Given the description of an element on the screen output the (x, y) to click on. 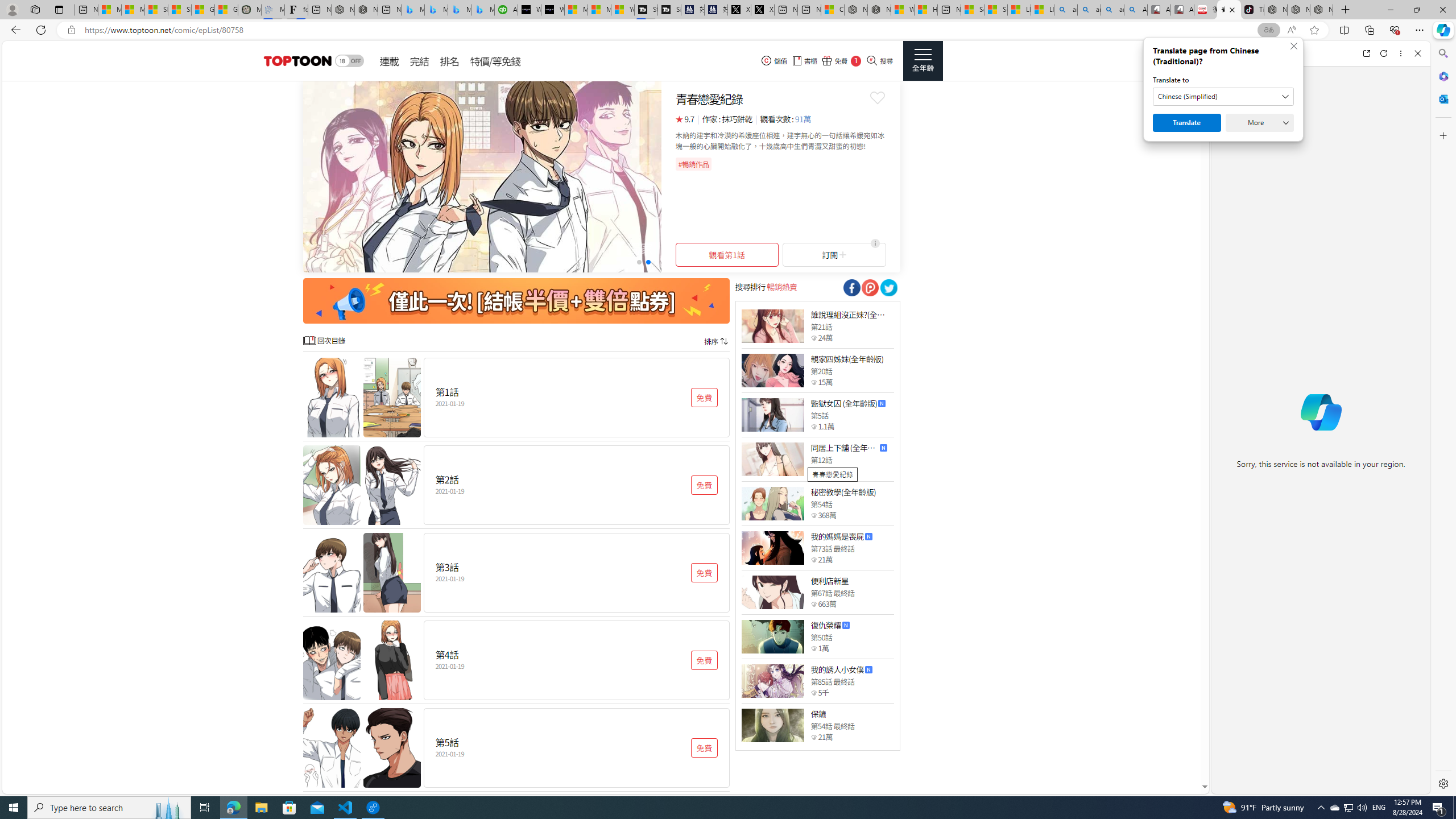
Nordace - Siena Pro 15 Essential Set (1321, 9)
Show translate options (1268, 29)
Amazon Echo Robot - Search Images (1135, 9)
